Given the description of an element on the screen output the (x, y) to click on. 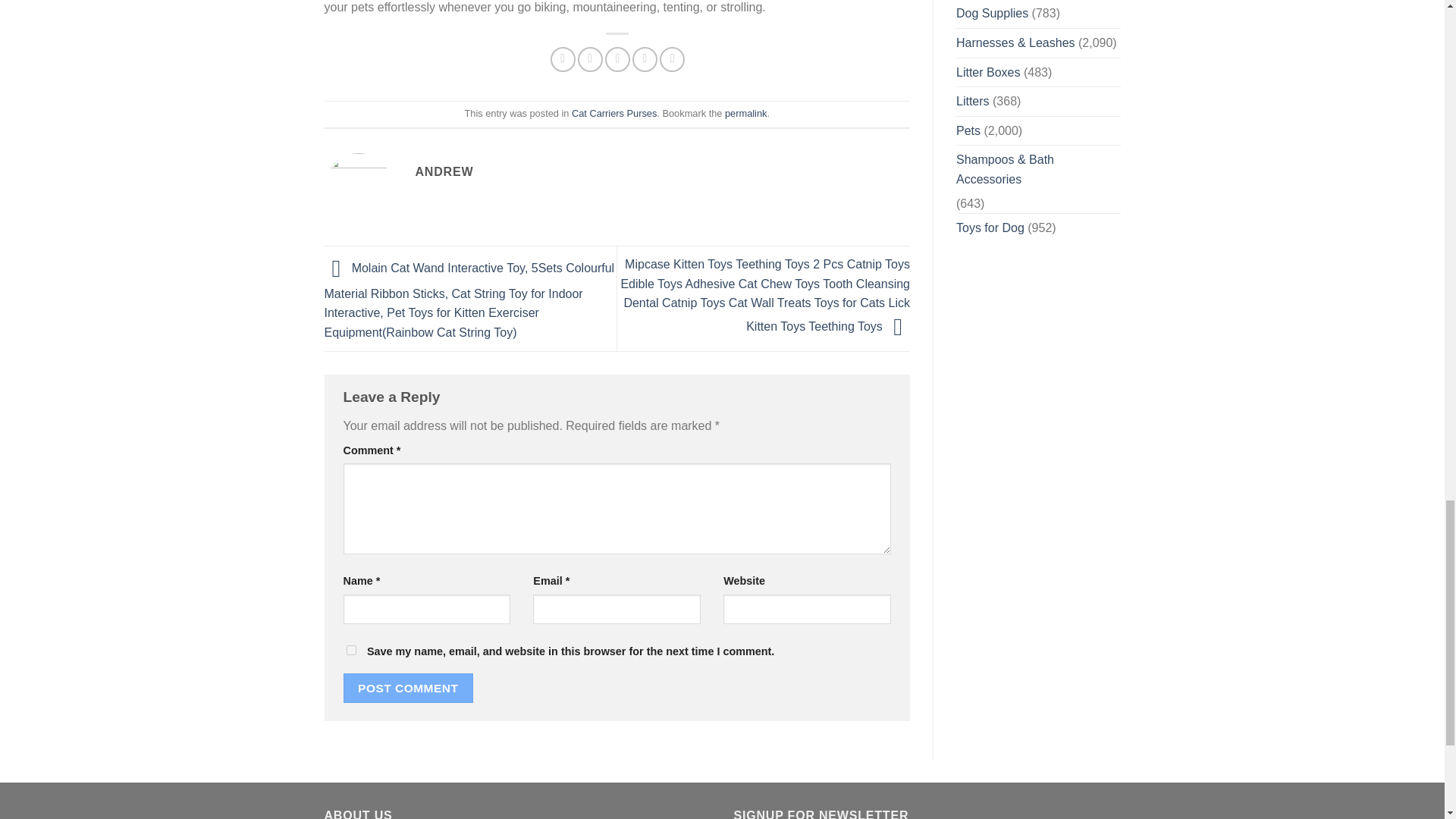
Share on Facebook (562, 59)
Share on Twitter (590, 59)
Pin on Pinterest (644, 59)
yes (350, 650)
Email to a Friend (617, 59)
Post Comment (407, 687)
Share on LinkedIn (671, 59)
